Given the description of an element on the screen output the (x, y) to click on. 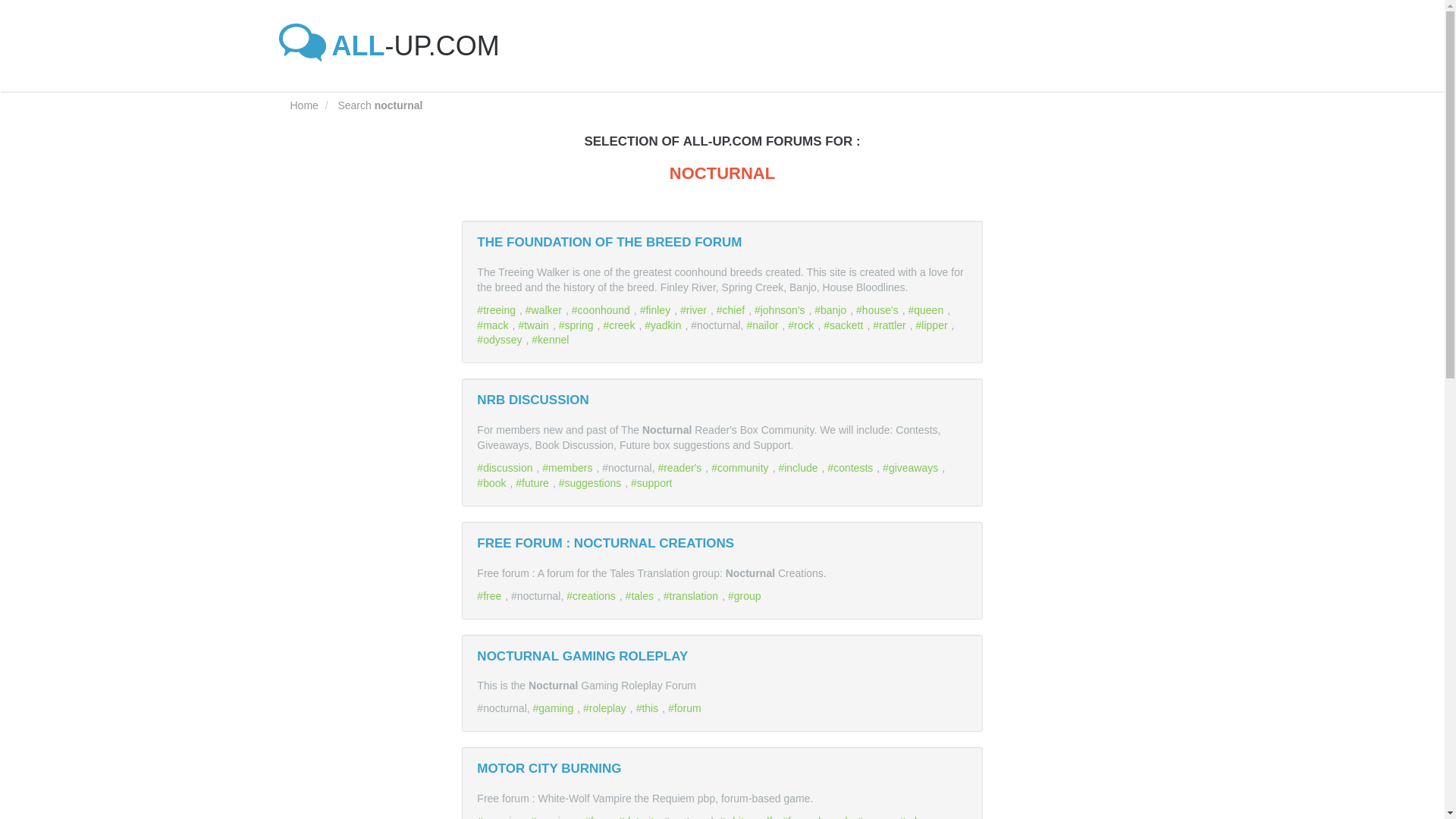
house's (879, 309)
NRB DISCUSSION (532, 400)
coonhound (602, 309)
ALL-UP.COM (395, 45)
community (741, 467)
contests (851, 467)
The Foundation Of The Breed Forum (609, 242)
suggestions (592, 482)
finley (657, 309)
lipper (933, 324)
